Given the description of an element on the screen output the (x, y) to click on. 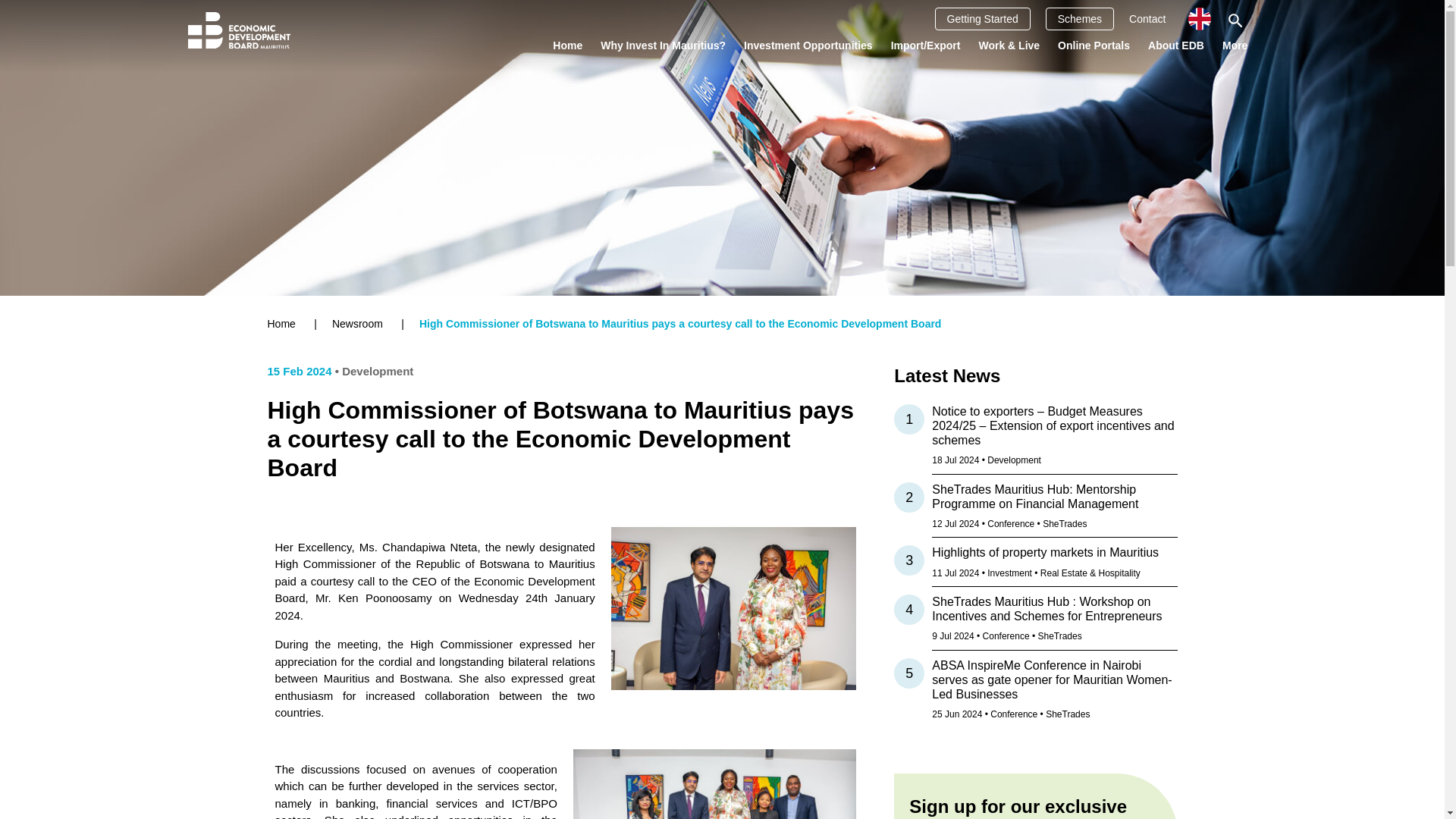
Getting Started (982, 18)
Online Portals (1093, 45)
Investment Opportunities (808, 45)
Home (567, 45)
More (1234, 45)
About EDB (1175, 45)
Contact (1147, 18)
Why Invest In Mauritius? (663, 45)
Schemes (1079, 18)
